Given the description of an element on the screen output the (x, y) to click on. 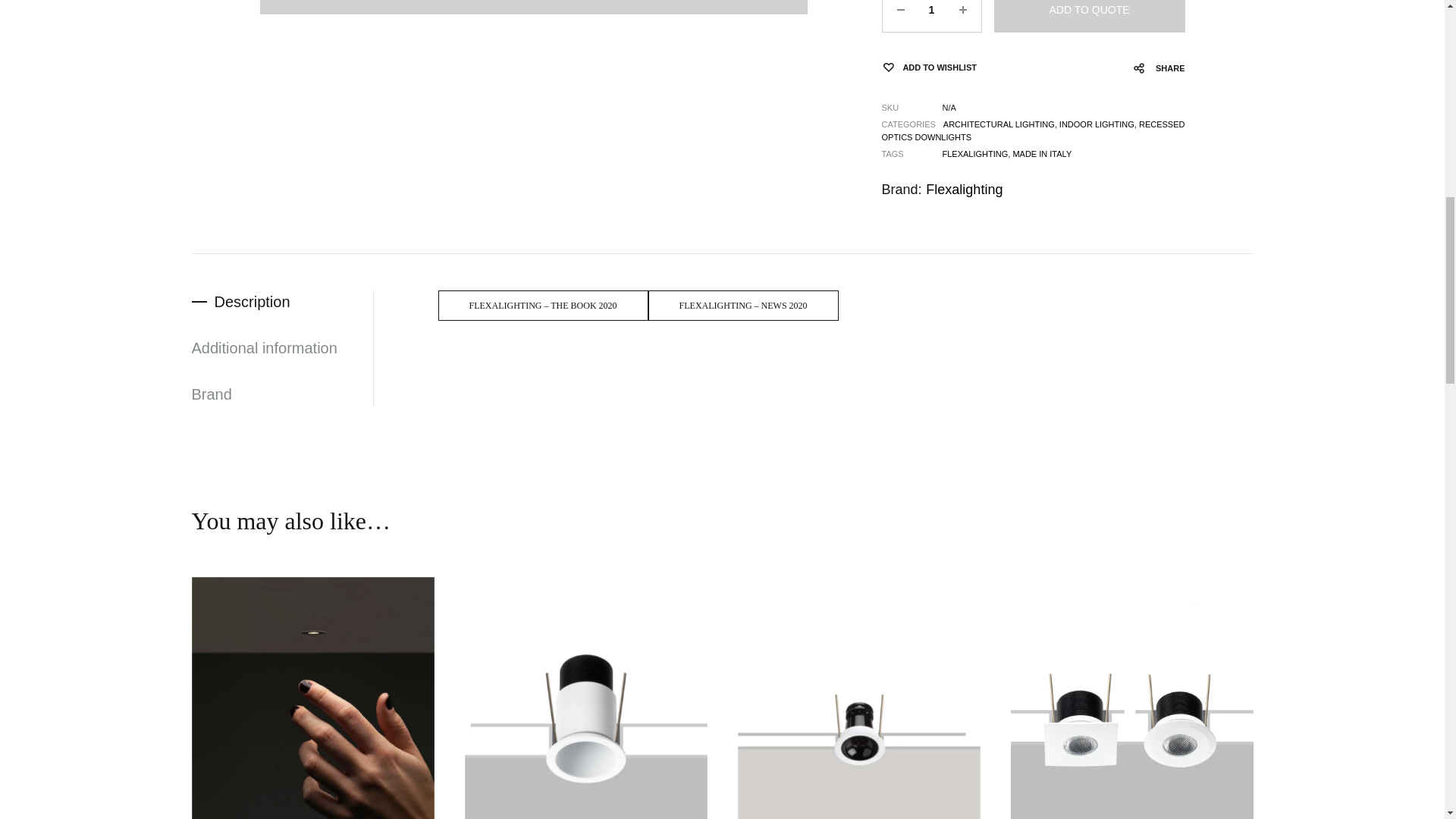
Technical Catalogue  (742, 305)
View brand (964, 189)
TIOUGR-SLH-01 (533, 7)
Technical Catalogue  (542, 305)
1 (931, 15)
